Given the description of an element on the screen output the (x, y) to click on. 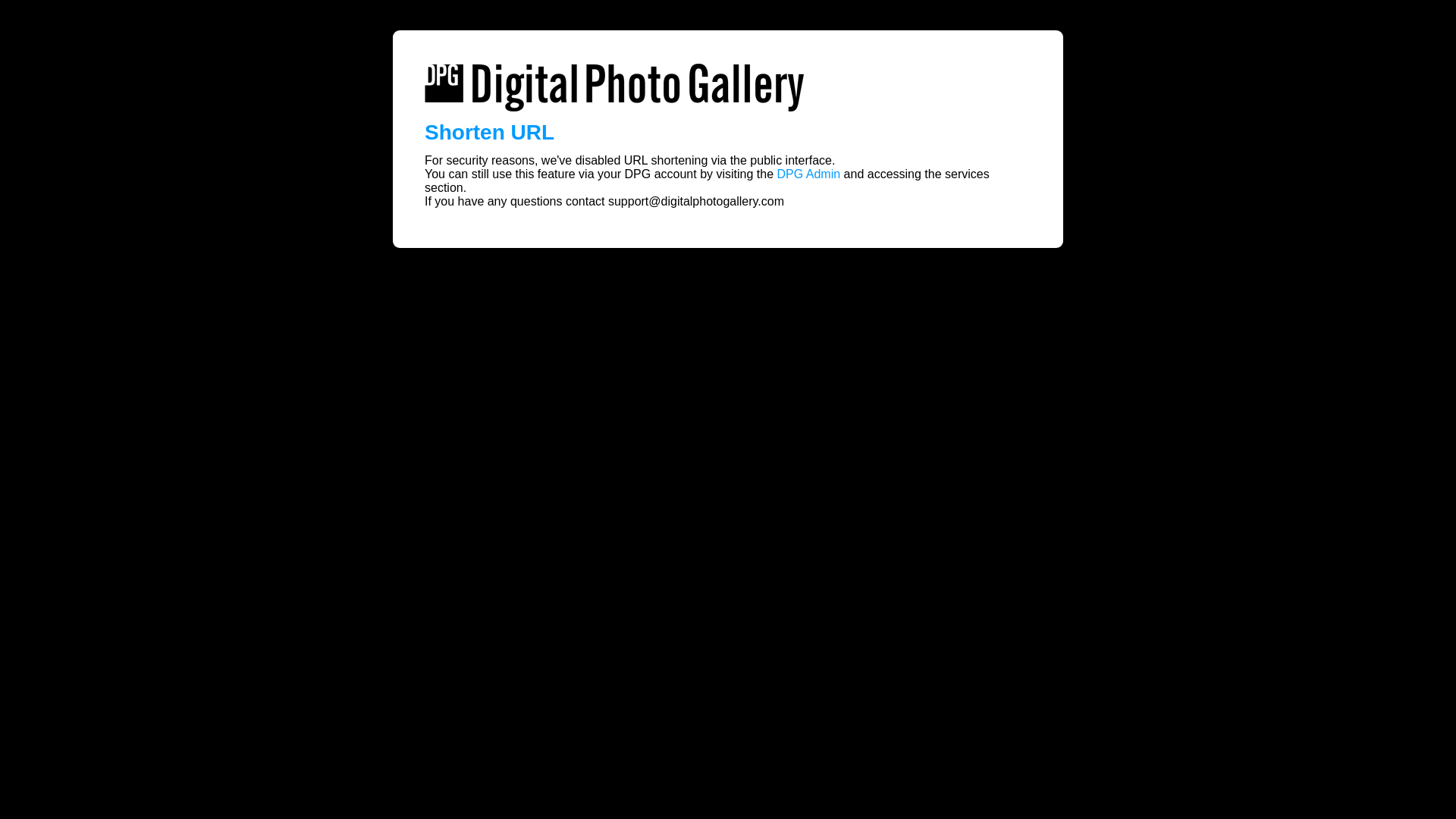
Digital Photo Gallery Element type: text (613, 87)
DPG Admin Element type: text (808, 173)
